Given the description of an element on the screen output the (x, y) to click on. 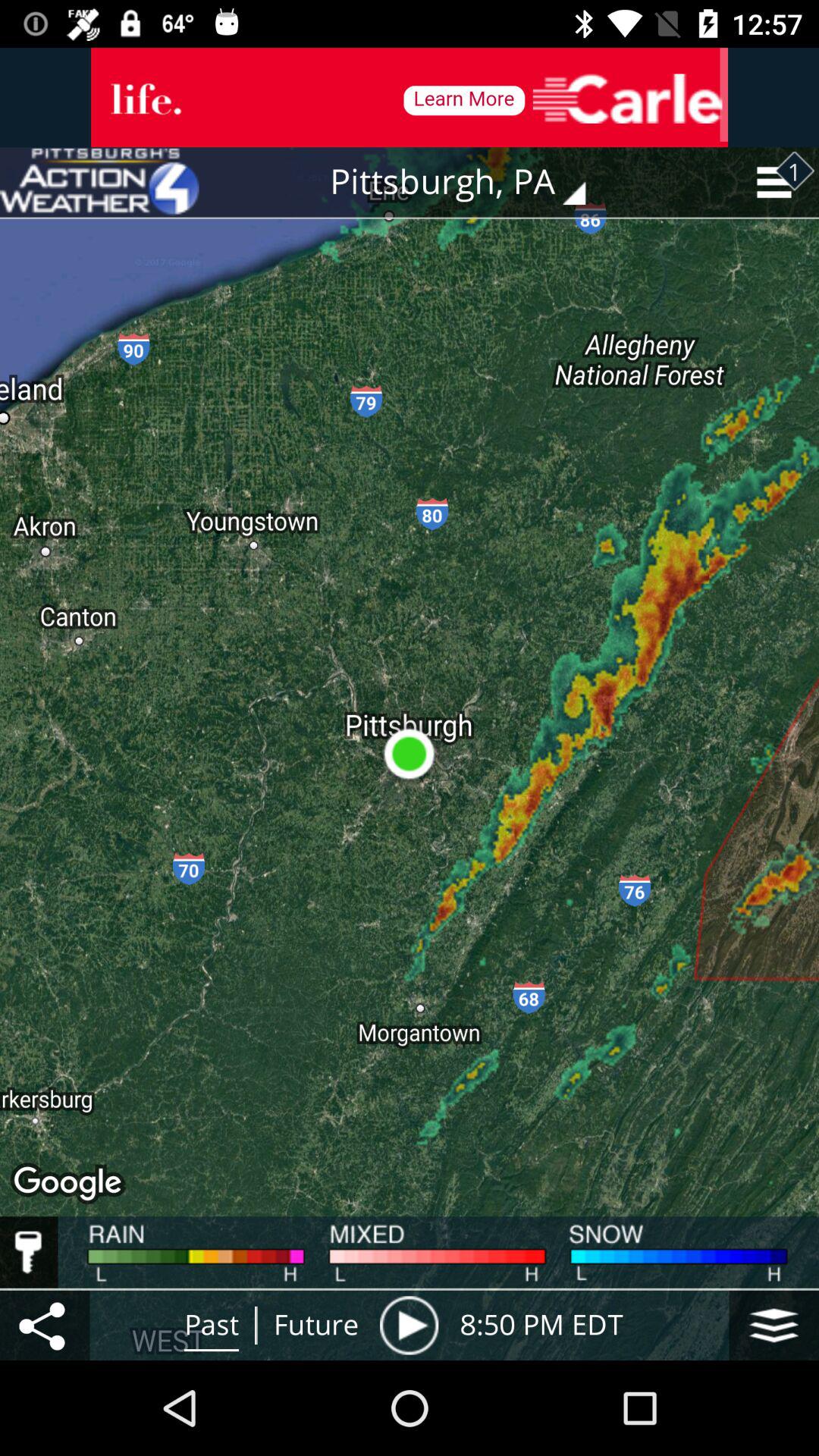
choose the item at the top left corner (99, 182)
